Given the description of an element on the screen output the (x, y) to click on. 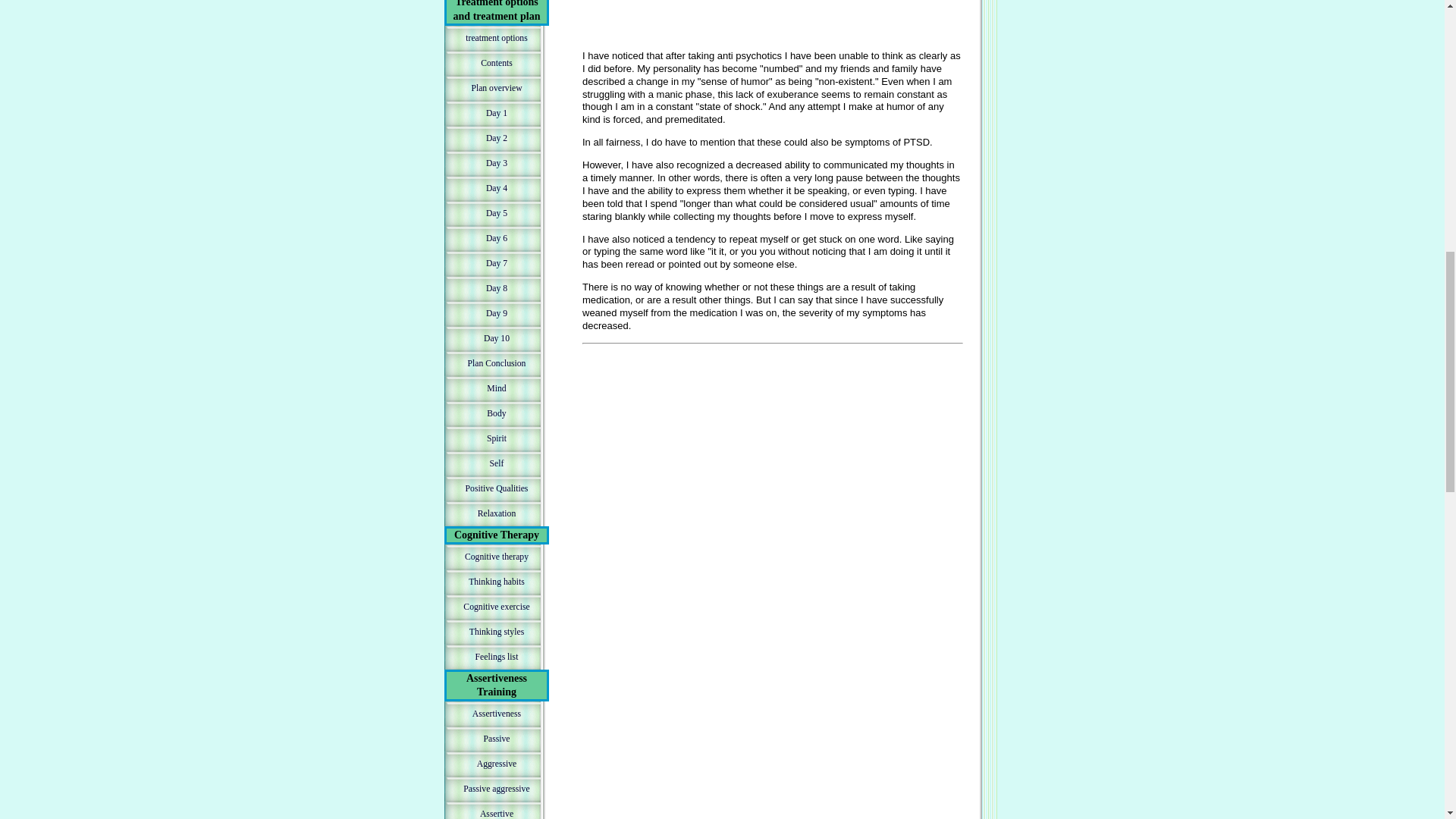
Day 1 (496, 113)
Day 9 (496, 313)
Day 2 (496, 138)
Day 4 (496, 188)
Plan Conclusion (496, 363)
Day 3 (496, 163)
Plan overview (496, 88)
Contents (496, 63)
Day 7 (496, 263)
Day 10 (496, 338)
